Given the description of an element on the screen output the (x, y) to click on. 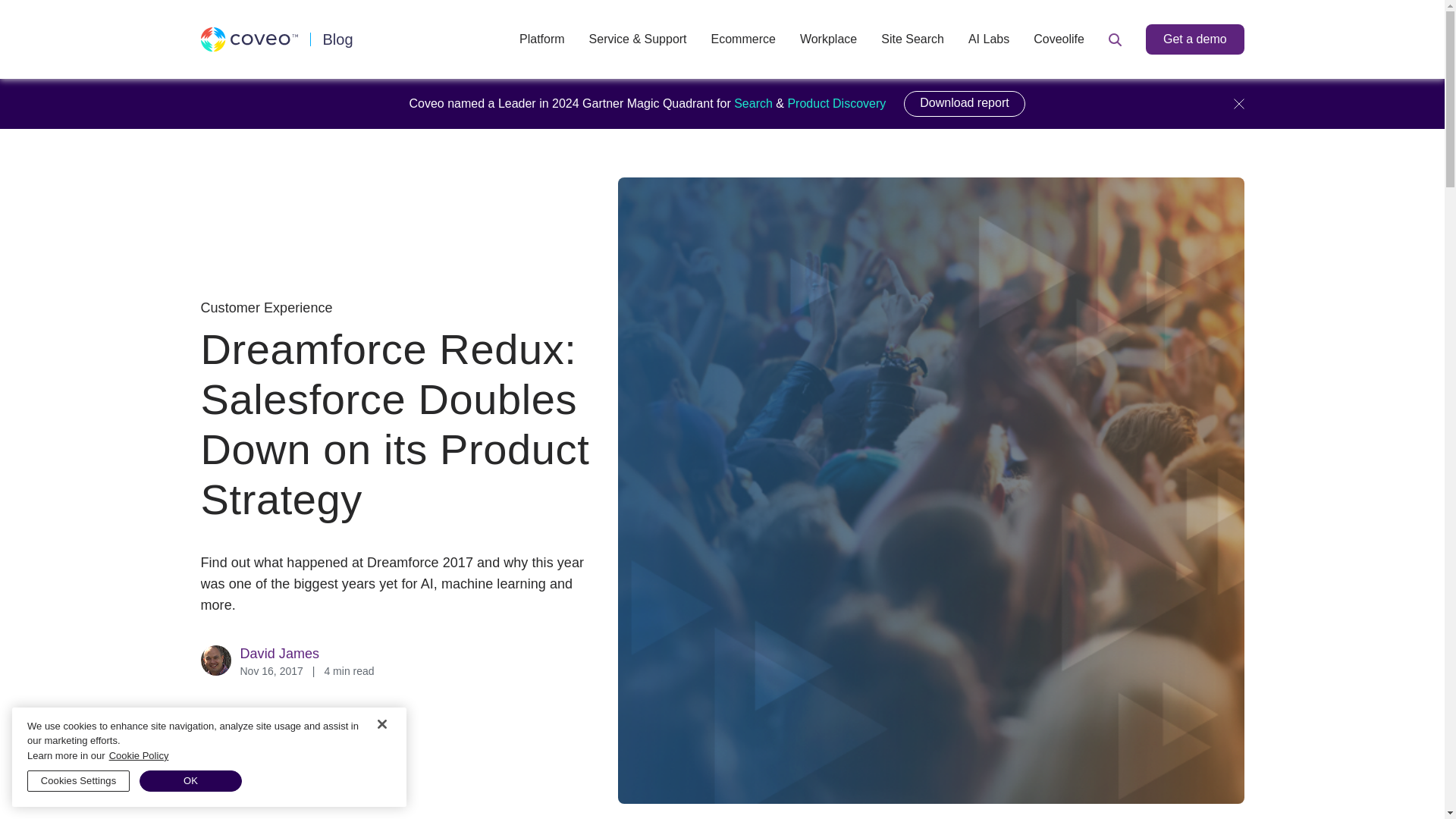
AI Labs (988, 38)
David James (279, 653)
Ecommerce (743, 38)
Get a demo (1194, 39)
Platform (541, 38)
Site Search (911, 38)
Blog (338, 39)
Coveolife (1058, 38)
Download report (964, 103)
Workplace (828, 38)
